Given the description of an element on the screen output the (x, y) to click on. 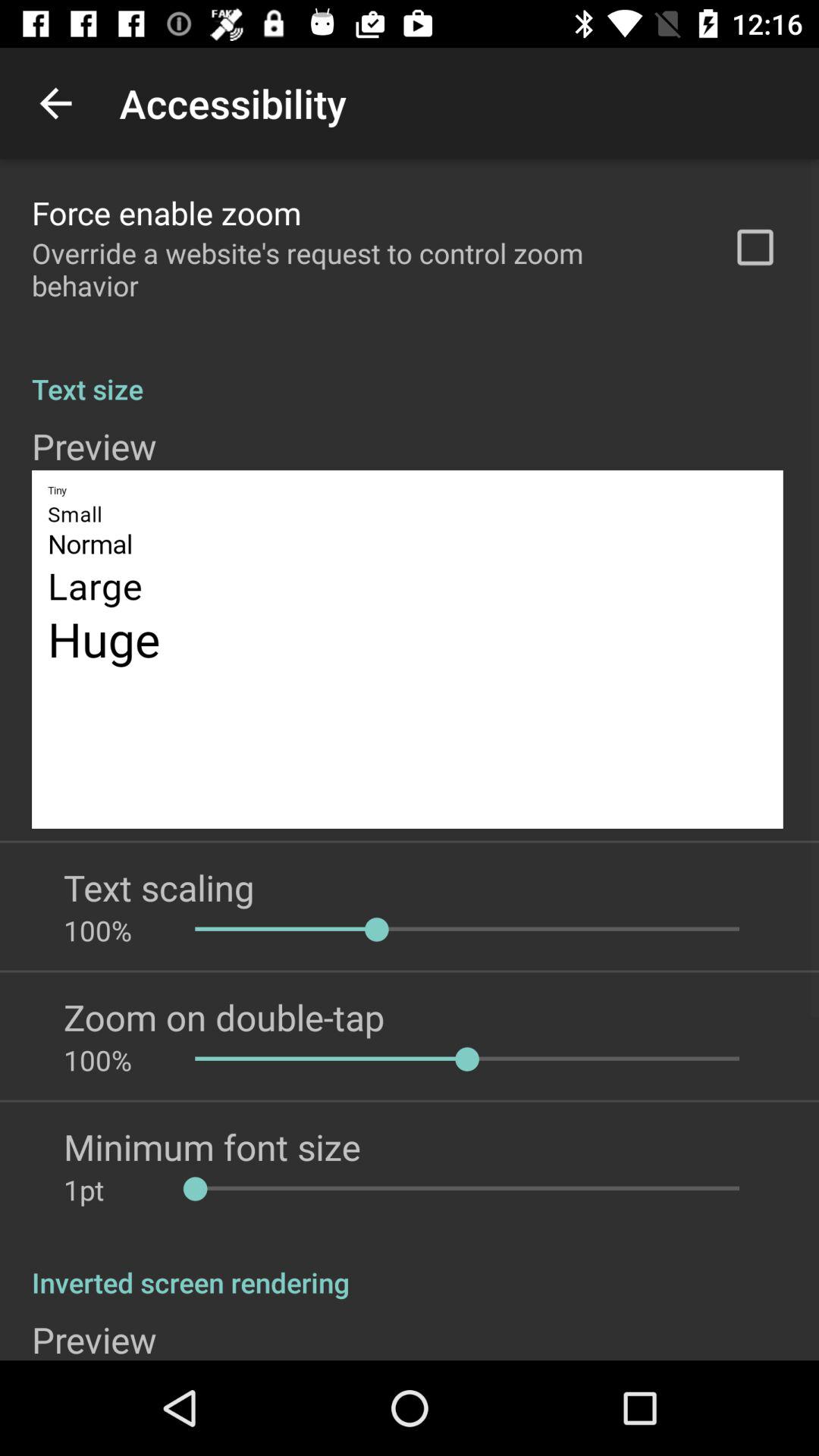
flip to the text scaling app (158, 887)
